Given the description of an element on the screen output the (x, y) to click on. 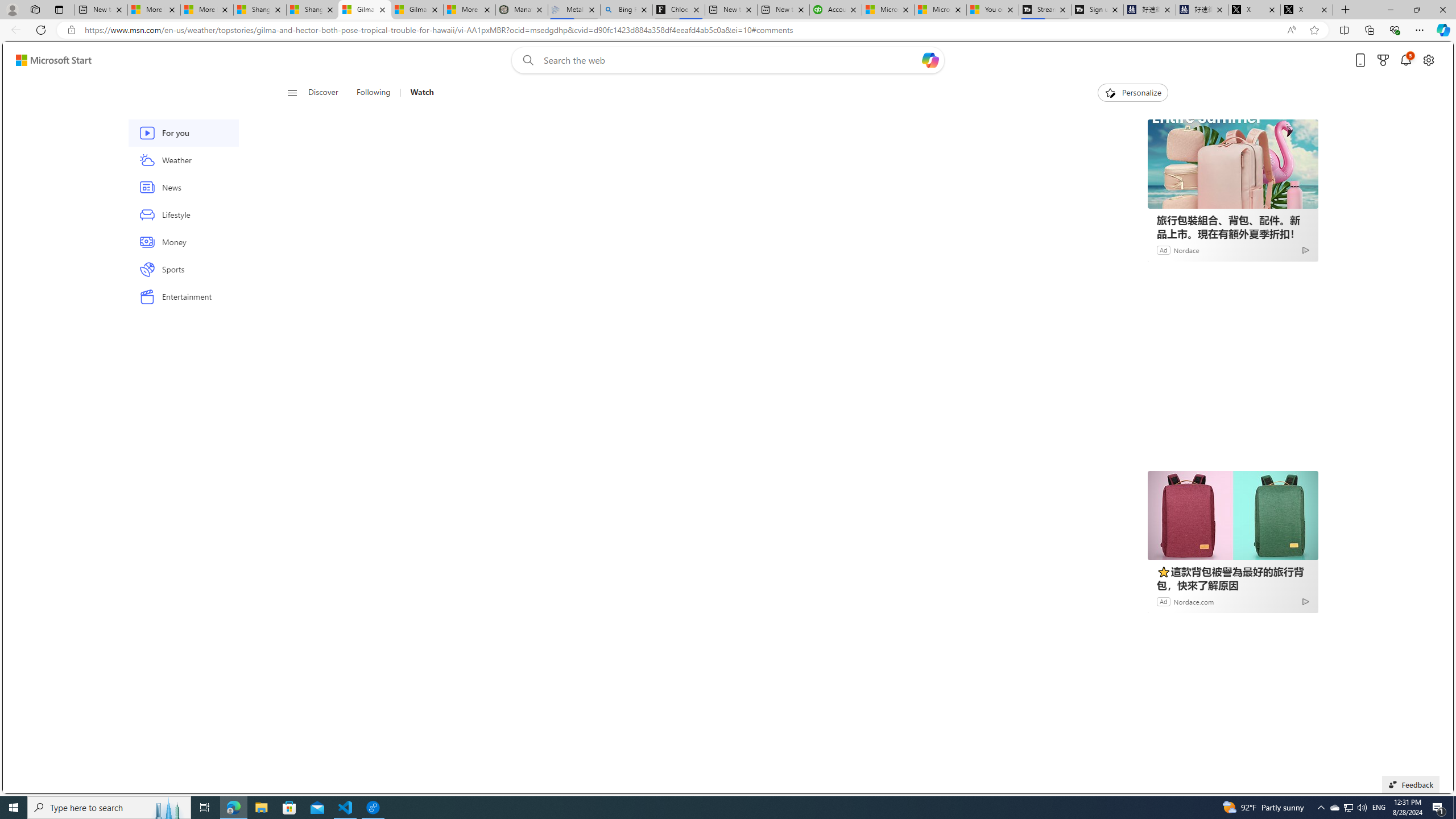
Personalize (1132, 92)
Bing Real Estate - Home sales and rental listings (626, 9)
Chloe Sorvino (678, 9)
Open settings (1427, 60)
Watch (421, 92)
